Given the description of an element on the screen output the (x, y) to click on. 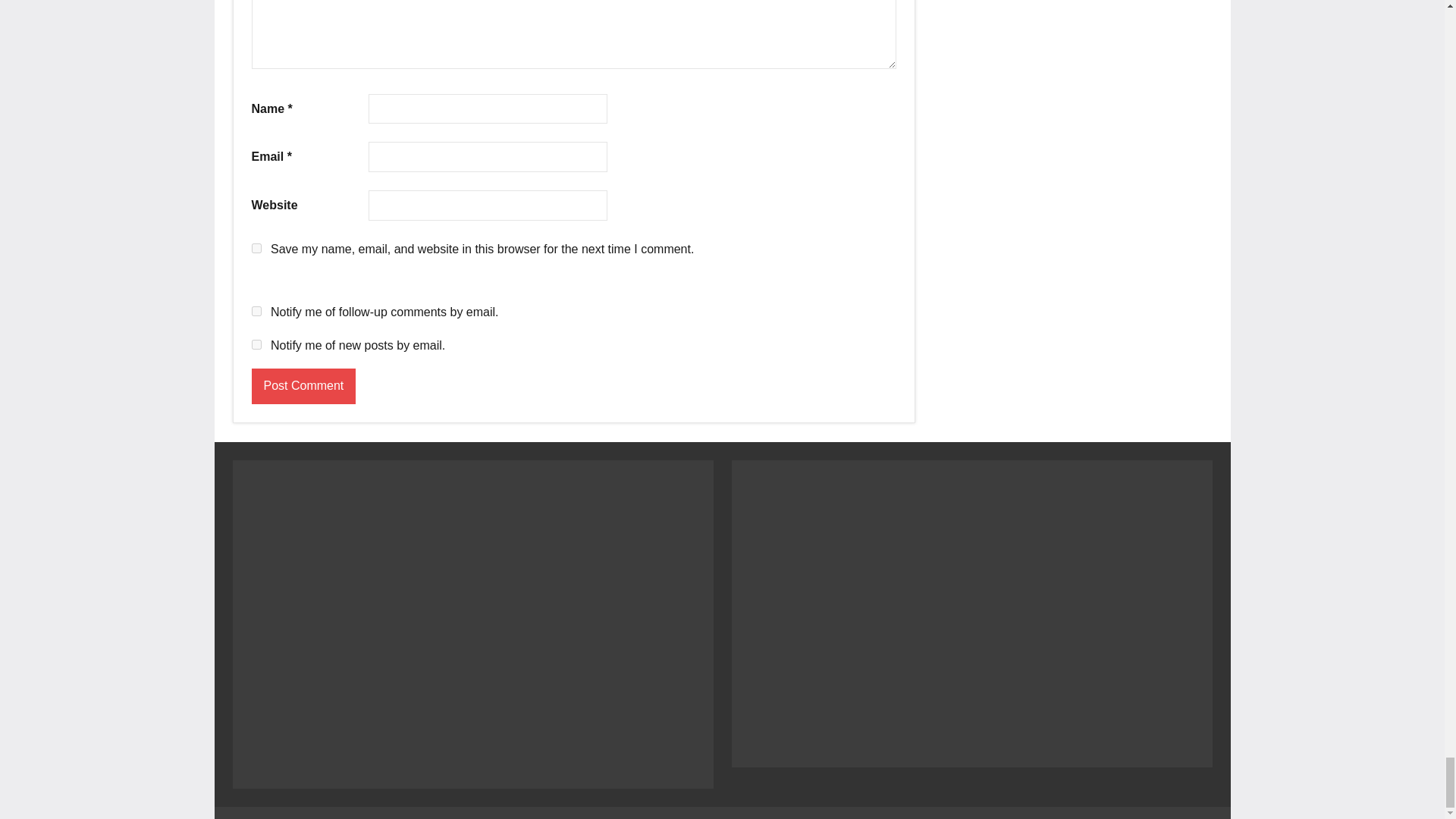
yes (256, 248)
Post Comment (303, 386)
subscribe (256, 311)
subscribe (256, 344)
